Given the description of an element on the screen output the (x, y) to click on. 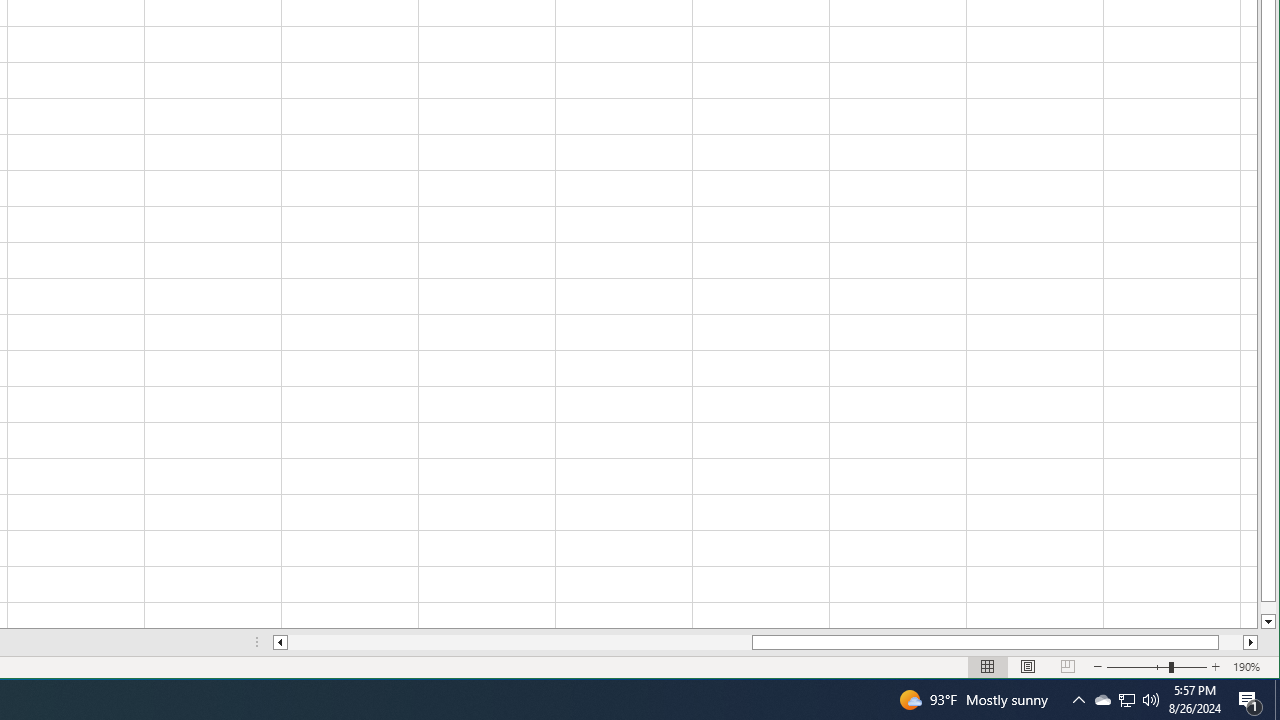
Notification Chevron (1078, 699)
User Promoted Notification Area (1126, 699)
Q2790: 100% (1151, 699)
